Given the description of an element on the screen output the (x, y) to click on. 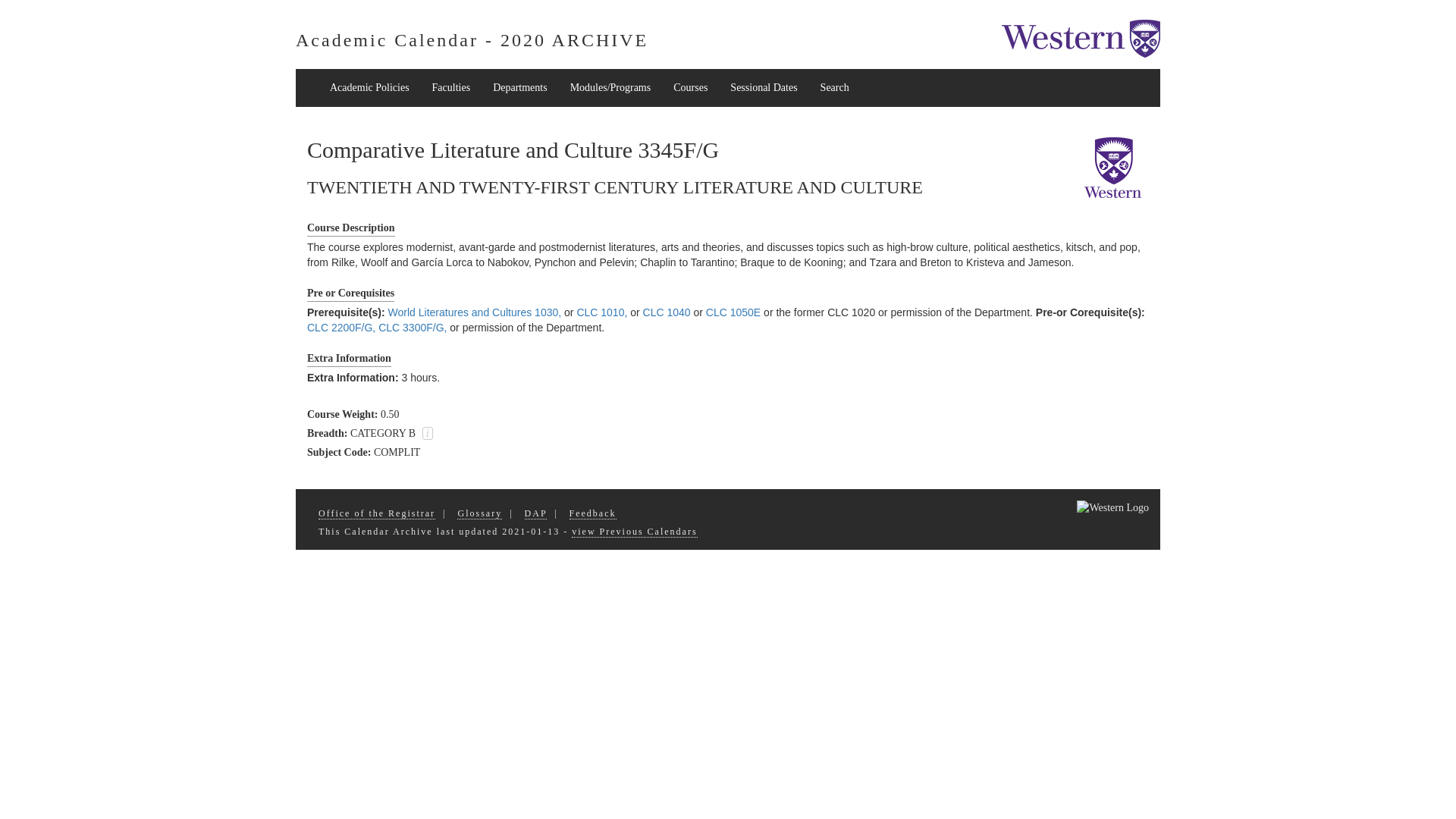
Courses (690, 87)
Academic Calendar - 2020 ARCHIVE (471, 39)
World Literatures and Cultures 1030, (475, 312)
Search (834, 87)
Departments (520, 87)
CLC 1010, (601, 312)
CLC 1040 (666, 312)
Academic Policies (369, 87)
Office of the Registrar (376, 513)
CLC 1050E (733, 312)
